Given the description of an element on the screen output the (x, y) to click on. 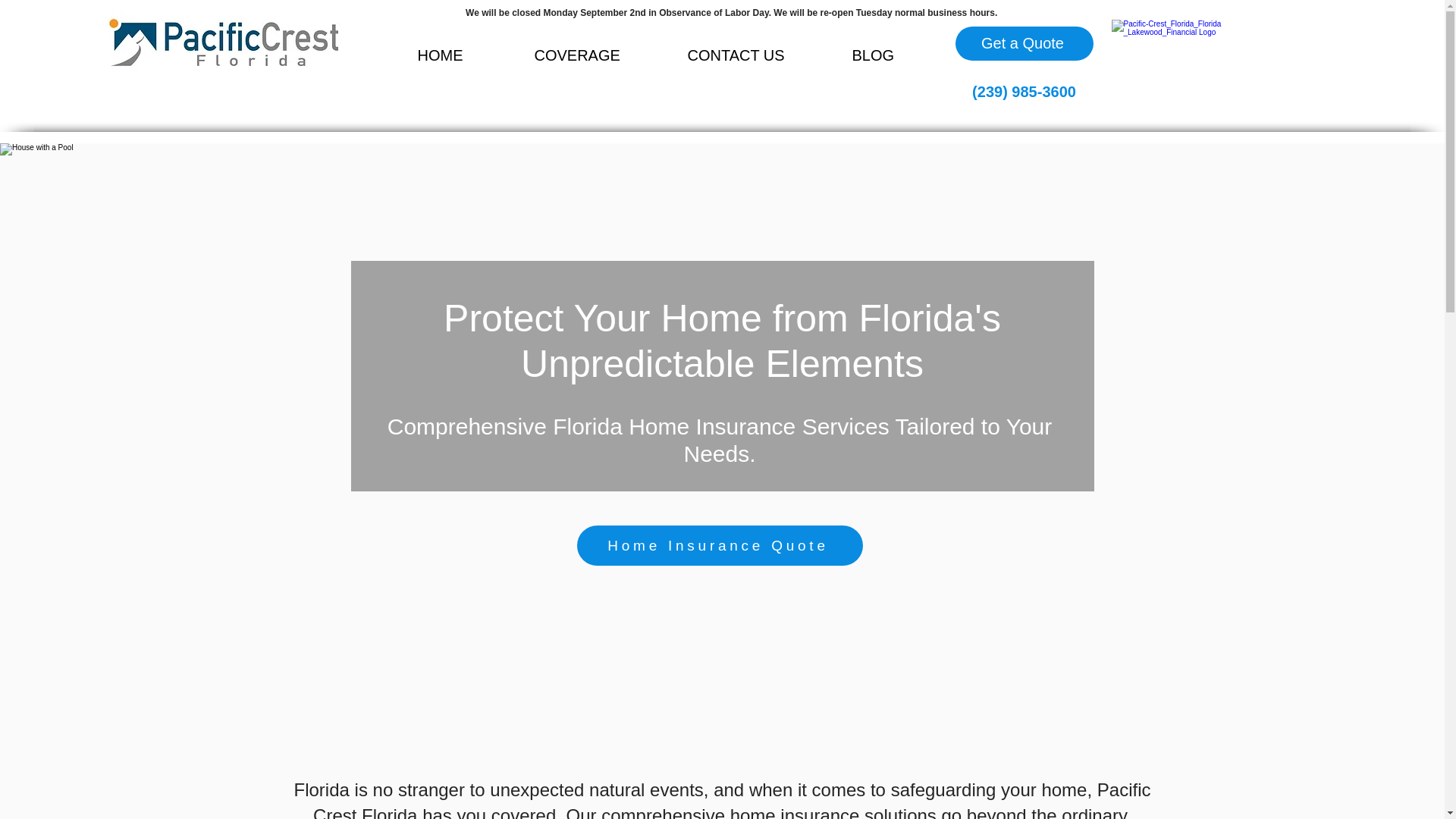
Home Insurance Quote (718, 545)
CONTACT US (759, 55)
Get a Quote (1024, 43)
HOME (464, 55)
BLOG (896, 55)
